Given the description of an element on the screen output the (x, y) to click on. 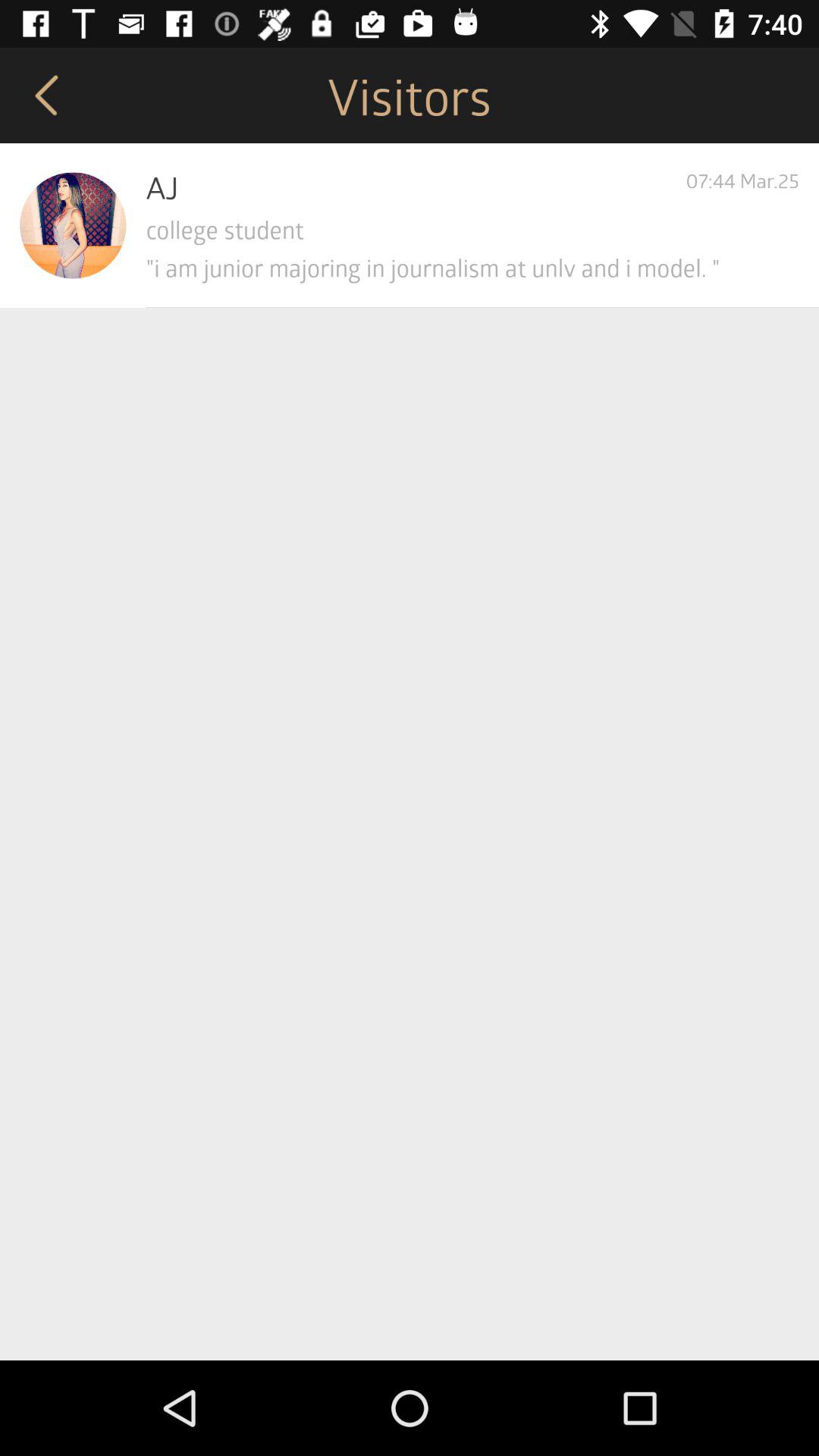
tap visitors item (409, 95)
